Given the description of an element on the screen output the (x, y) to click on. 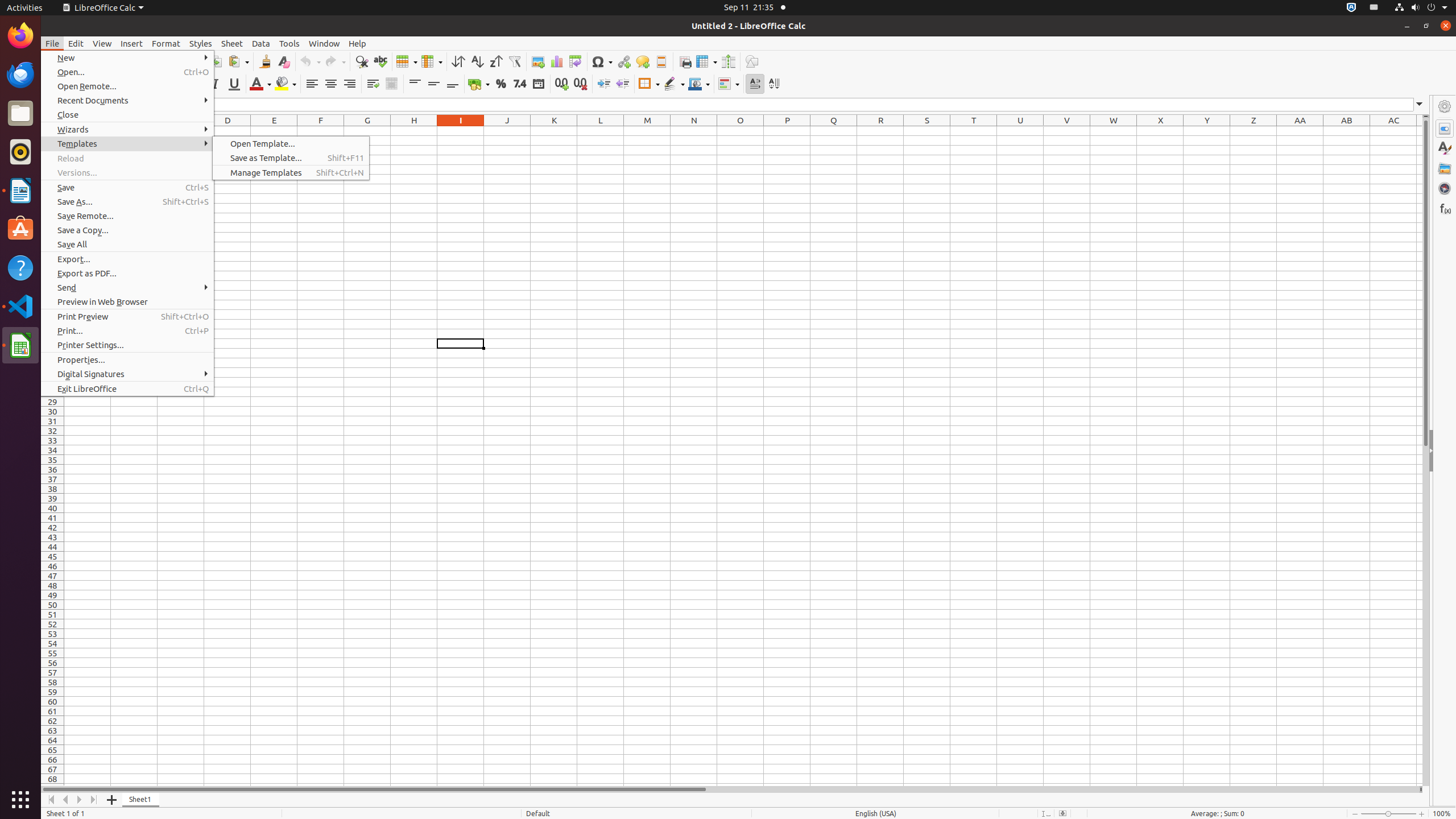
Reload Element type: menu-item (126, 158)
Open Remote... Element type: menu-item (126, 86)
Spelling Element type: push-button (379, 61)
Add Decimal Place Element type: push-button (561, 83)
E1 Element type: table-cell (273, 130)
